Given the description of an element on the screen output the (x, y) to click on. 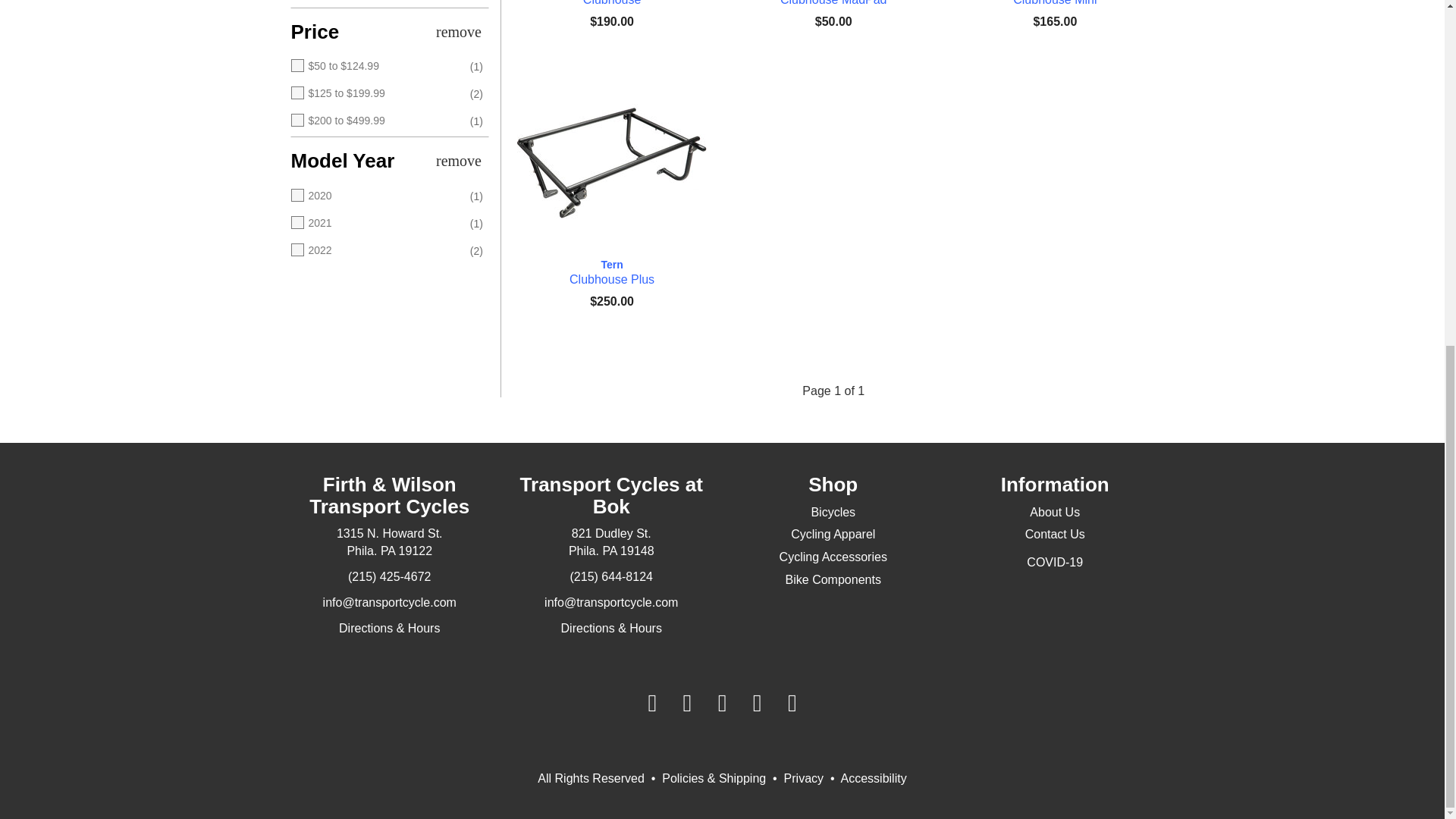
Tern Clubhouse Mini (1054, 3)
Tern Clubhouse MadPad (833, 3)
Tern Clubhouse (611, 3)
